Given the description of an element on the screen output the (x, y) to click on. 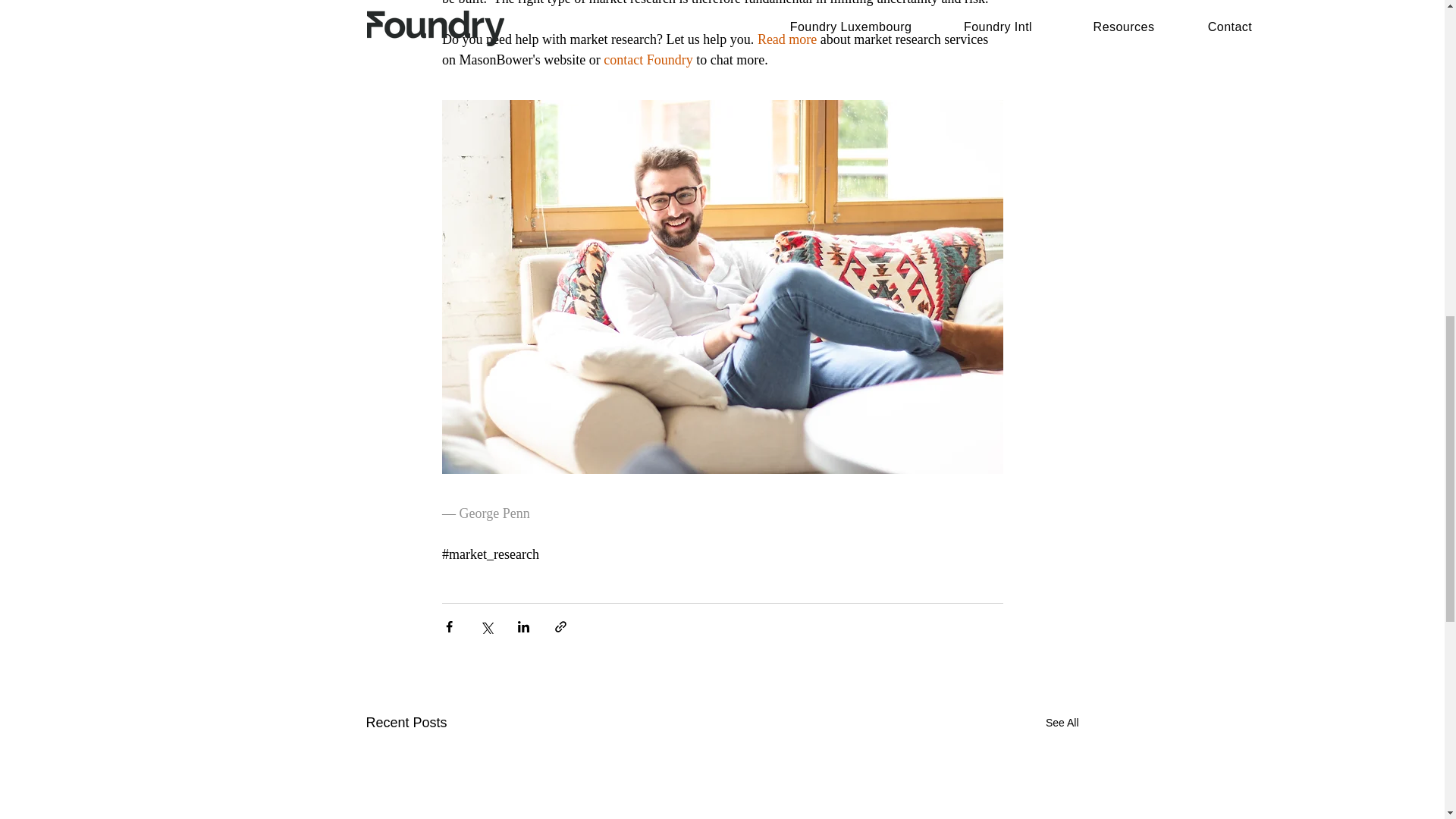
contact Foundry  (649, 59)
See All (1061, 722)
Read more (786, 38)
